Given the description of an element on the screen output the (x, y) to click on. 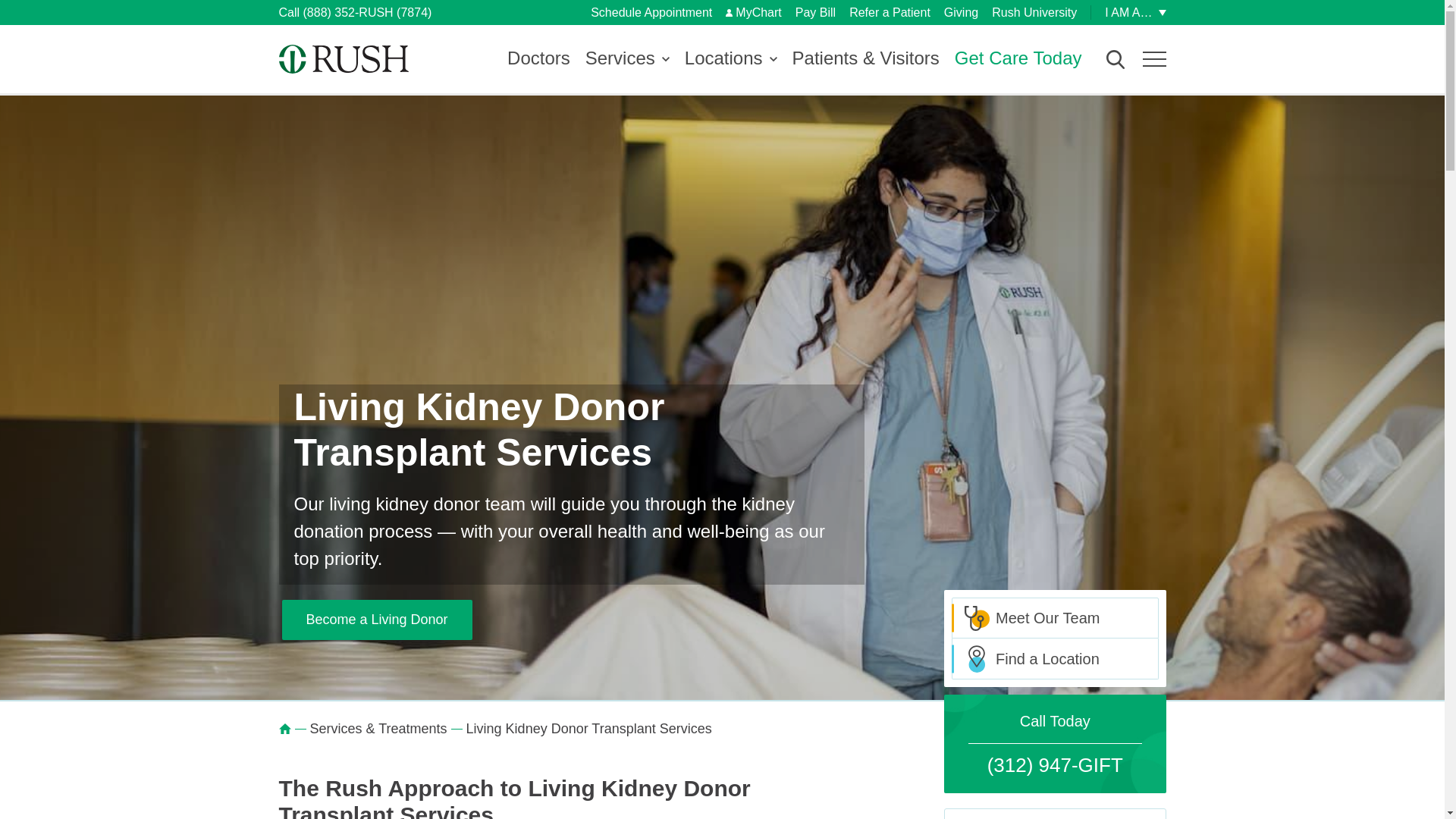
Refer a Patient (889, 11)
Pay Bill (814, 11)
MyChart (752, 11)
Schedule Appointment (651, 11)
Giving (960, 11)
Rush University (1034, 11)
